Given the description of an element on the screen output the (x, y) to click on. 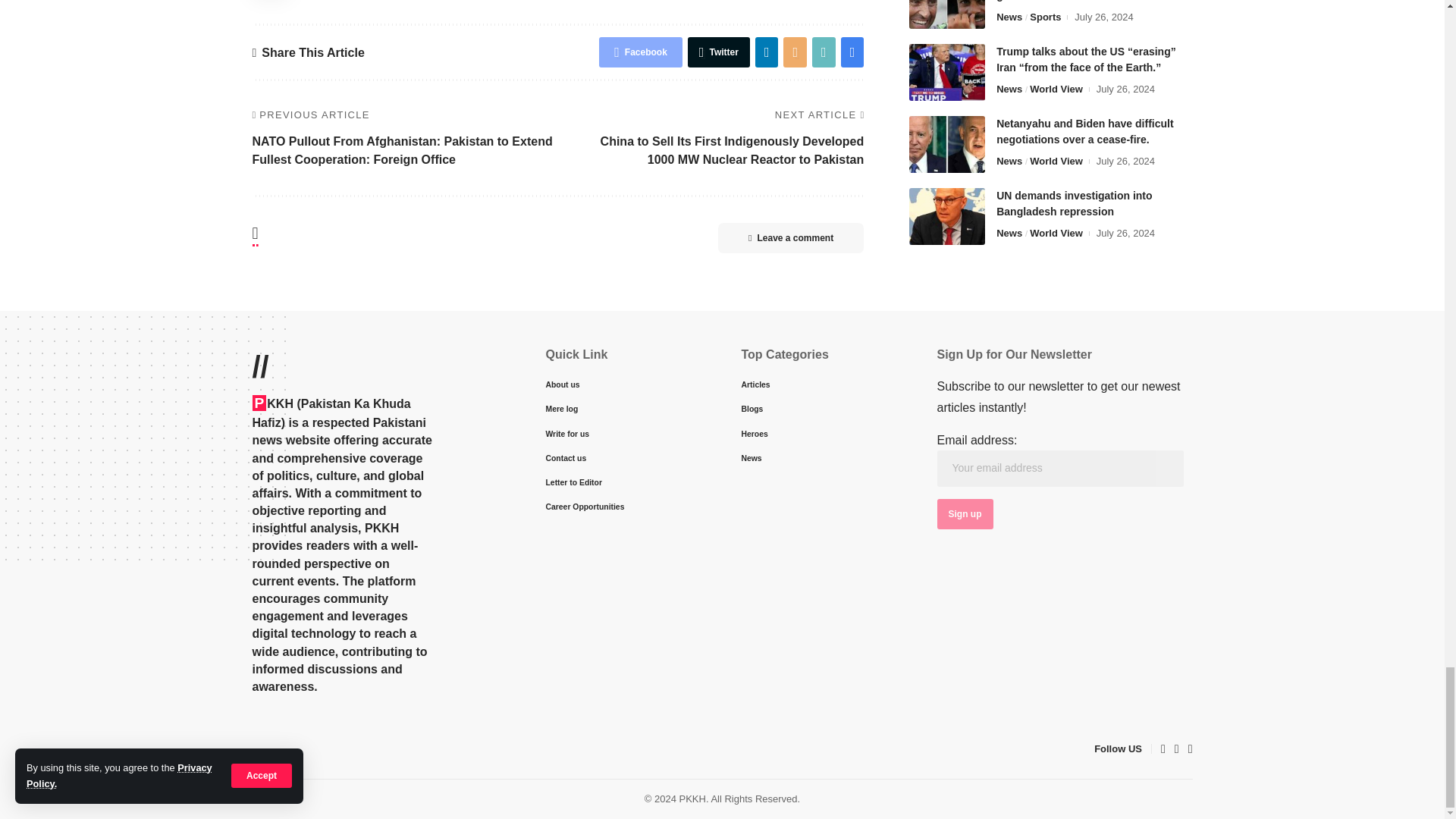
Sign up (964, 513)
